Given the description of an element on the screen output the (x, y) to click on. 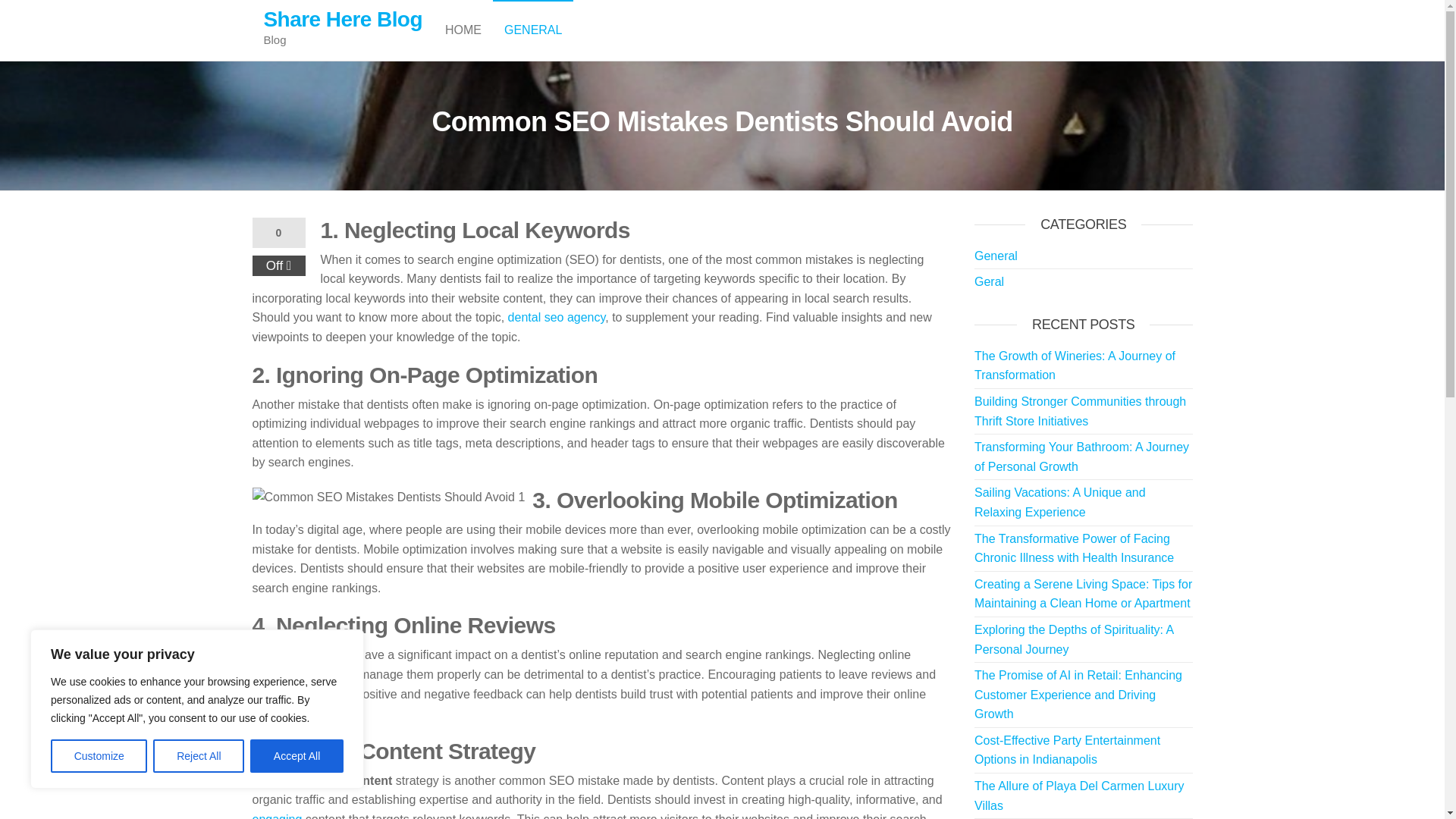
Share Here Blog (342, 19)
Home (463, 30)
General (533, 30)
Accept All (296, 756)
Exploring the Depths of Spirituality: A Personal Journey (1073, 639)
Geral (989, 281)
HOME (463, 30)
Reject All (198, 756)
engaging (276, 816)
General (995, 255)
dental seo agency (556, 317)
The Growth of Wineries: A Journey of Transformation (1074, 365)
Customize (98, 756)
Sailing Vacations: A Unique and Relaxing Experience (1059, 502)
